Given the description of an element on the screen output the (x, y) to click on. 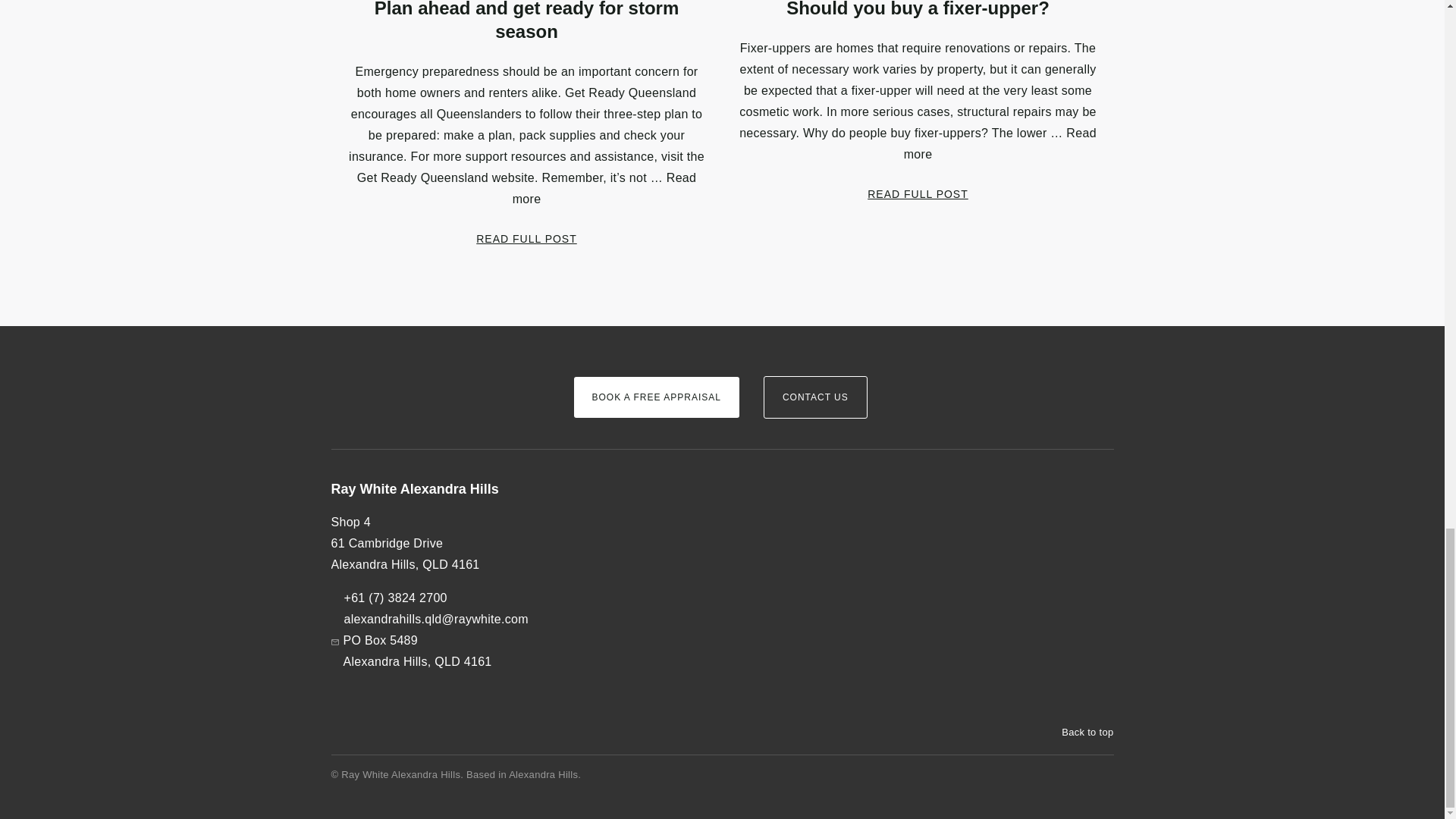
Back to top (1079, 732)
READ FULL POST (917, 193)
Should you buy a fixer-upper? (916, 9)
Ray White (376, 370)
BOOK A FREE APPRAISAL (655, 396)
CONTACT US (814, 396)
Plan ahead and get ready for storm season (526, 21)
READ FULL POST (526, 237)
Ray White Alexandra Hills (439, 489)
